Given the description of an element on the screen output the (x, y) to click on. 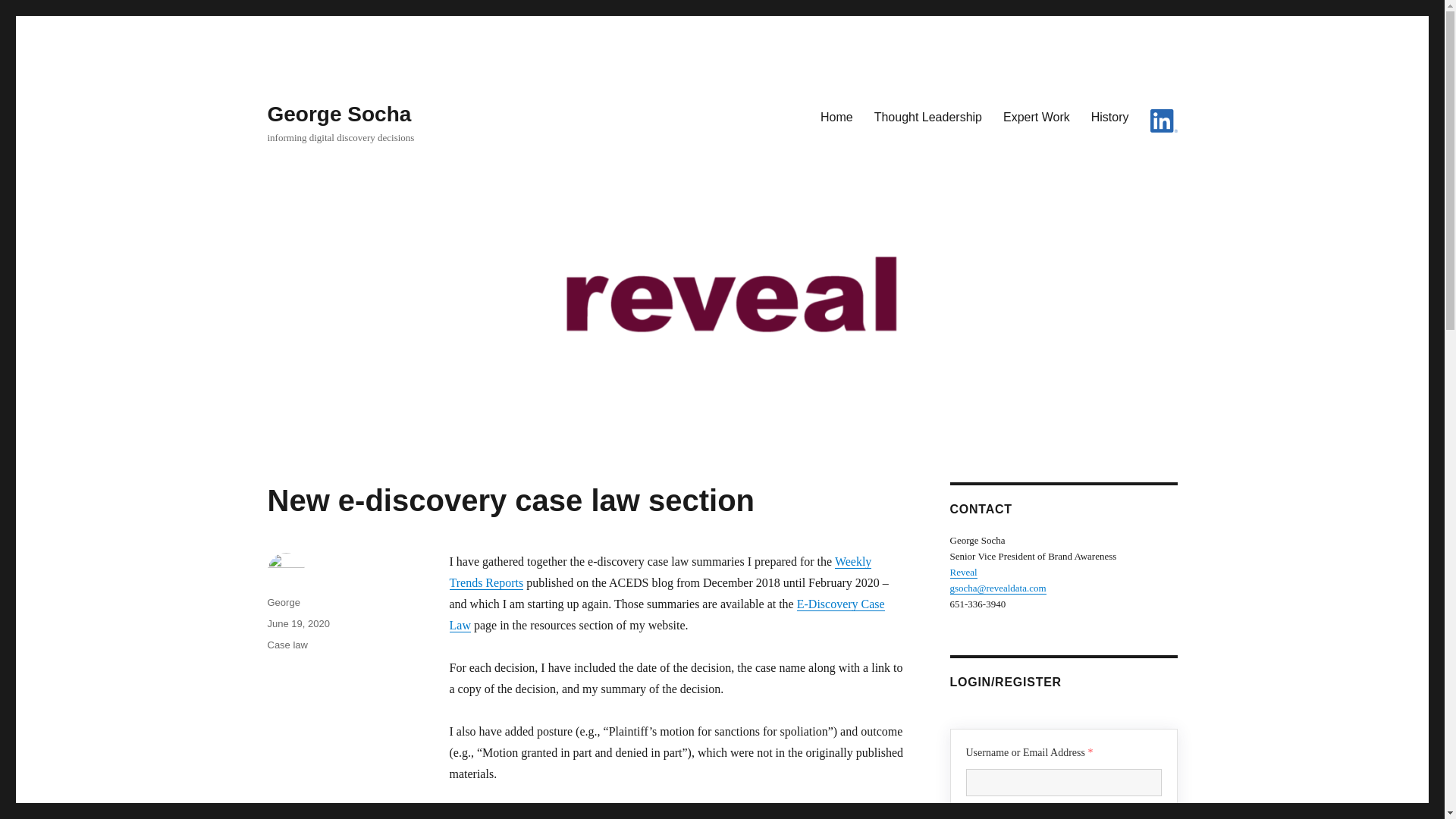
June 19, 2020 (297, 623)
Weekly Trends Reports (659, 571)
Home (836, 116)
Expert Work (1036, 116)
E-Discovery Case Law (665, 614)
History (1110, 116)
George (282, 602)
Case law (286, 644)
Thought Leadership (927, 116)
Reveal (962, 572)
George Socha (338, 114)
